Given the description of an element on the screen output the (x, y) to click on. 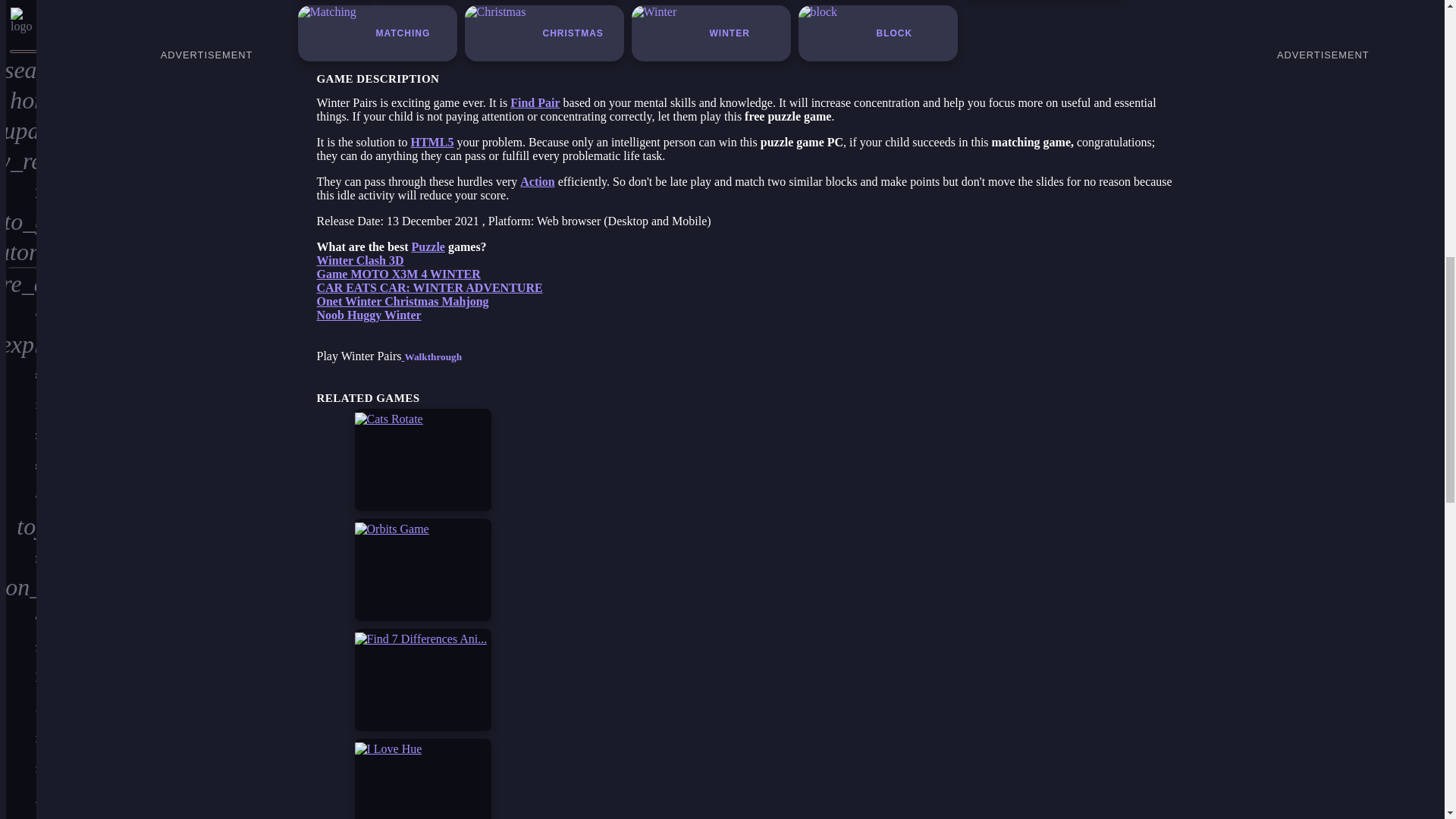
tank (20, 192)
tag (20, 376)
motorcycle (20, 313)
skill (20, 253)
puzzle (20, 12)
shooting (20, 71)
fort (20, 162)
our blog (20, 407)
drifting (20, 283)
